Given the description of an element on the screen output the (x, y) to click on. 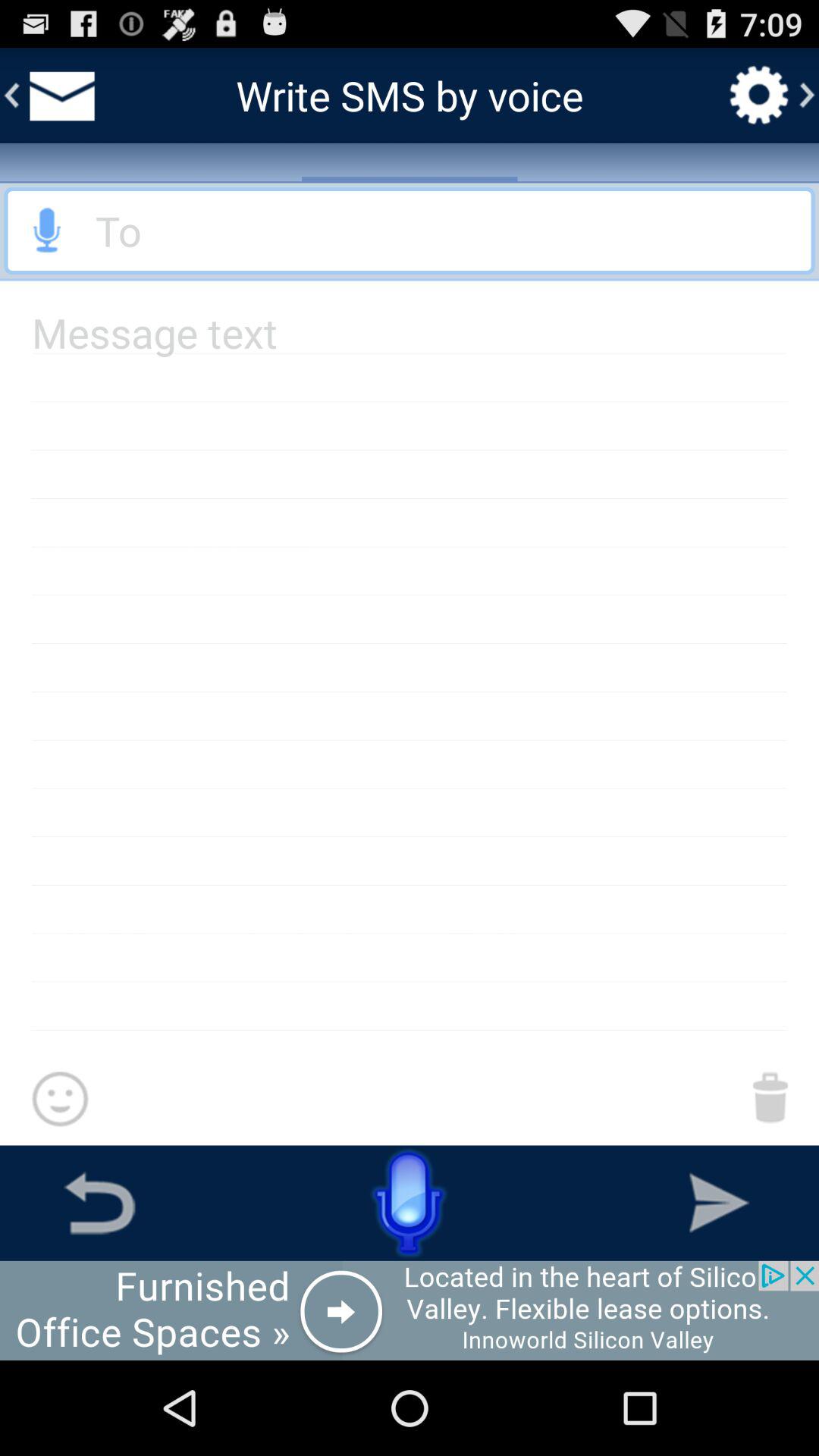
go back (99, 1202)
